Given the description of an element on the screen output the (x, y) to click on. 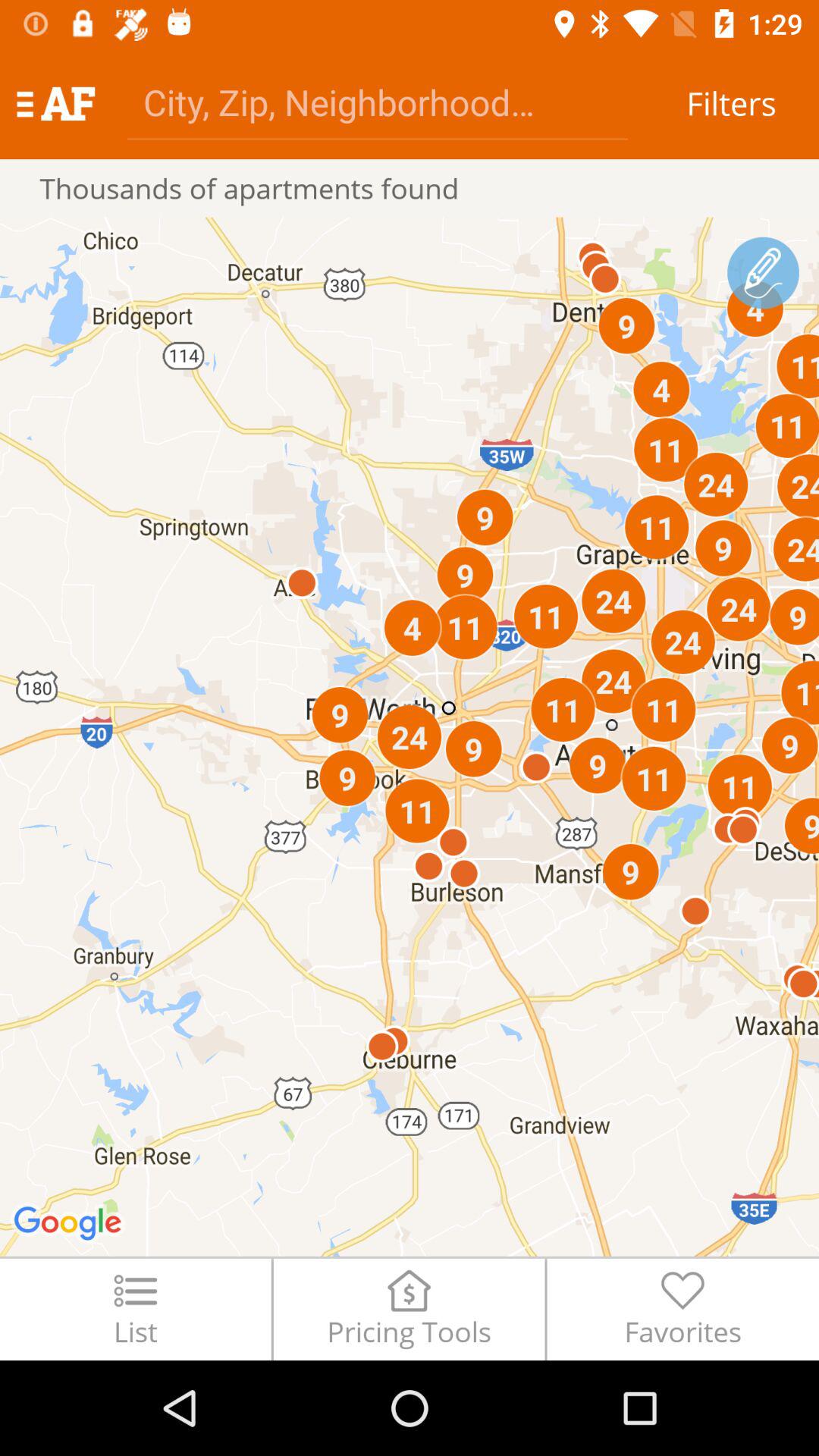
plot a route on the map (763, 272)
